Given the description of an element on the screen output the (x, y) to click on. 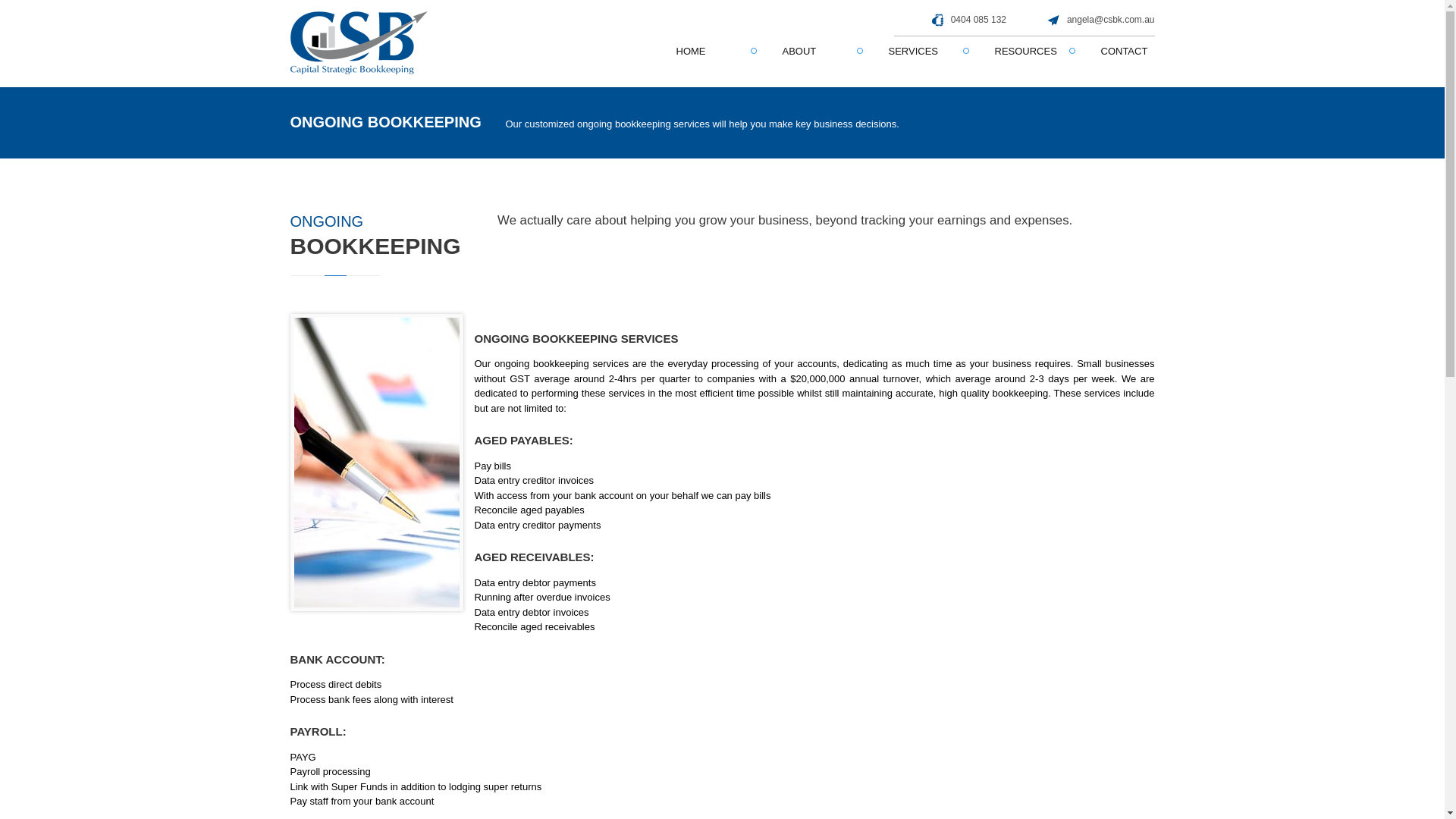
CONTACT Element type: text (1128, 51)
angela@csbk.com.au Element type: text (1110, 19)
SERVICES Element type: text (915, 51)
HOME Element type: text (703, 51)
RESOURCES Element type: text (1022, 51)
:  Element type: hover (357, 41)
ABOUT Element type: text (809, 51)
